Given the description of an element on the screen output the (x, y) to click on. 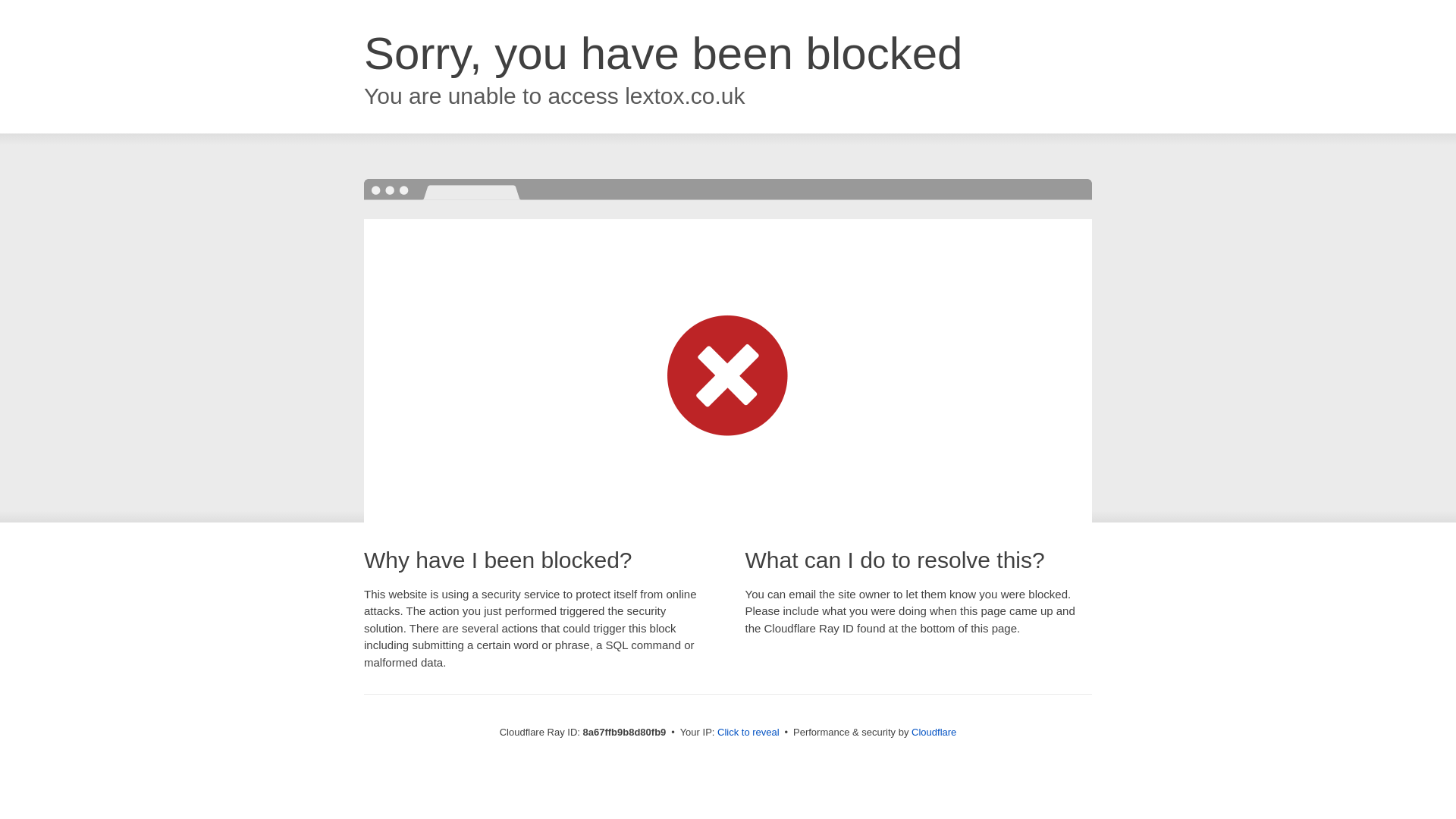
Click to reveal (747, 732)
Cloudflare (933, 731)
